Given the description of an element on the screen output the (x, y) to click on. 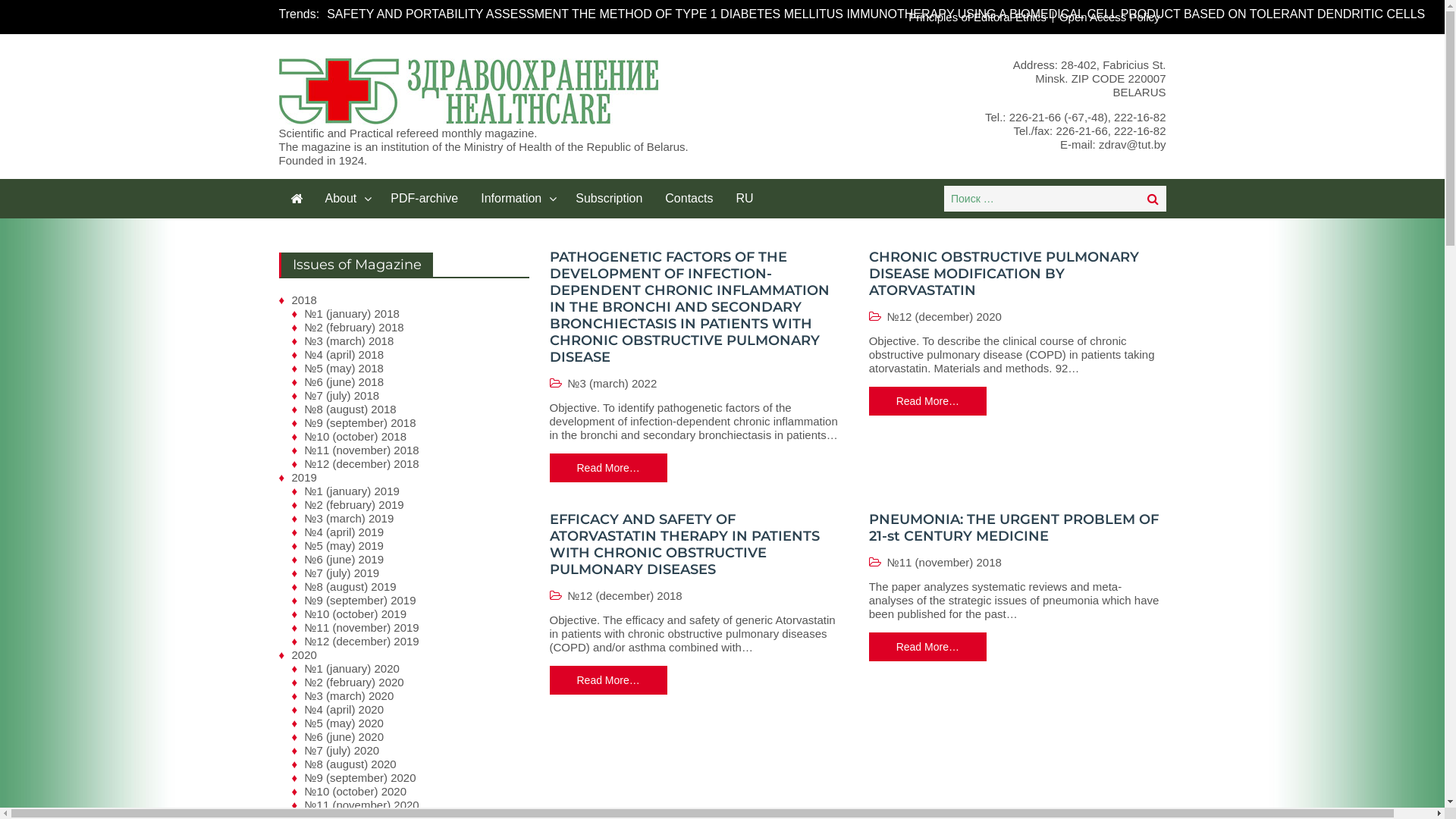
Contacts Element type: text (688, 198)
Subscription Element type: text (608, 198)
2020 Element type: text (303, 654)
Information Element type: text (516, 198)
RU Element type: text (744, 198)
2019 Element type: text (303, 476)
2018 Element type: text (303, 299)
Open Access Policy Element type: text (1109, 16)
About Element type: text (346, 198)
Principles of Editoral Ethics Element type: text (977, 16)
PDF-archive Element type: text (424, 198)
PNEUMONIA: THE URGENT PROBLEM OF 21-st CENTURY MEDICINE Element type: text (1013, 527)
Search Element type: text (1153, 198)
